Given the description of an element on the screen output the (x, y) to click on. 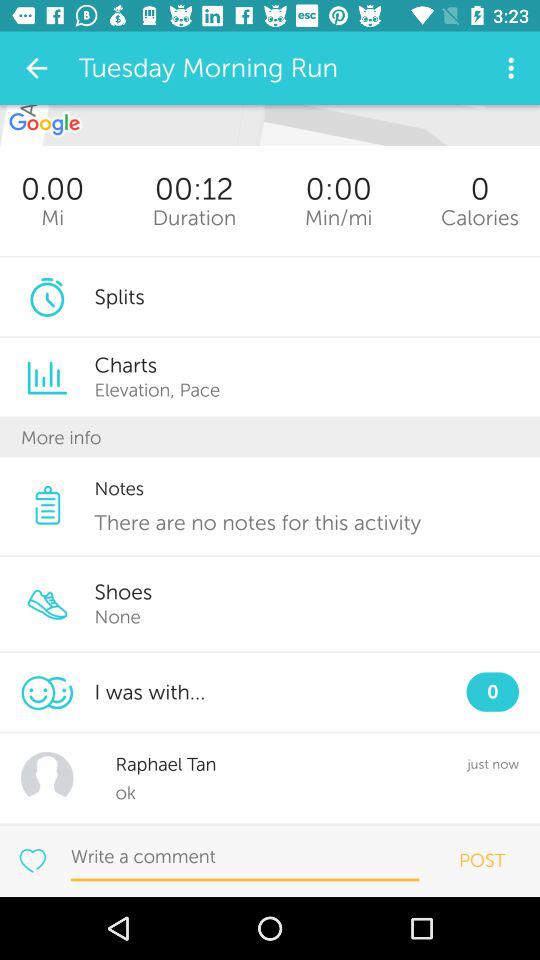
select item to the left of the 0 icon (338, 217)
